Given the description of an element on the screen output the (x, y) to click on. 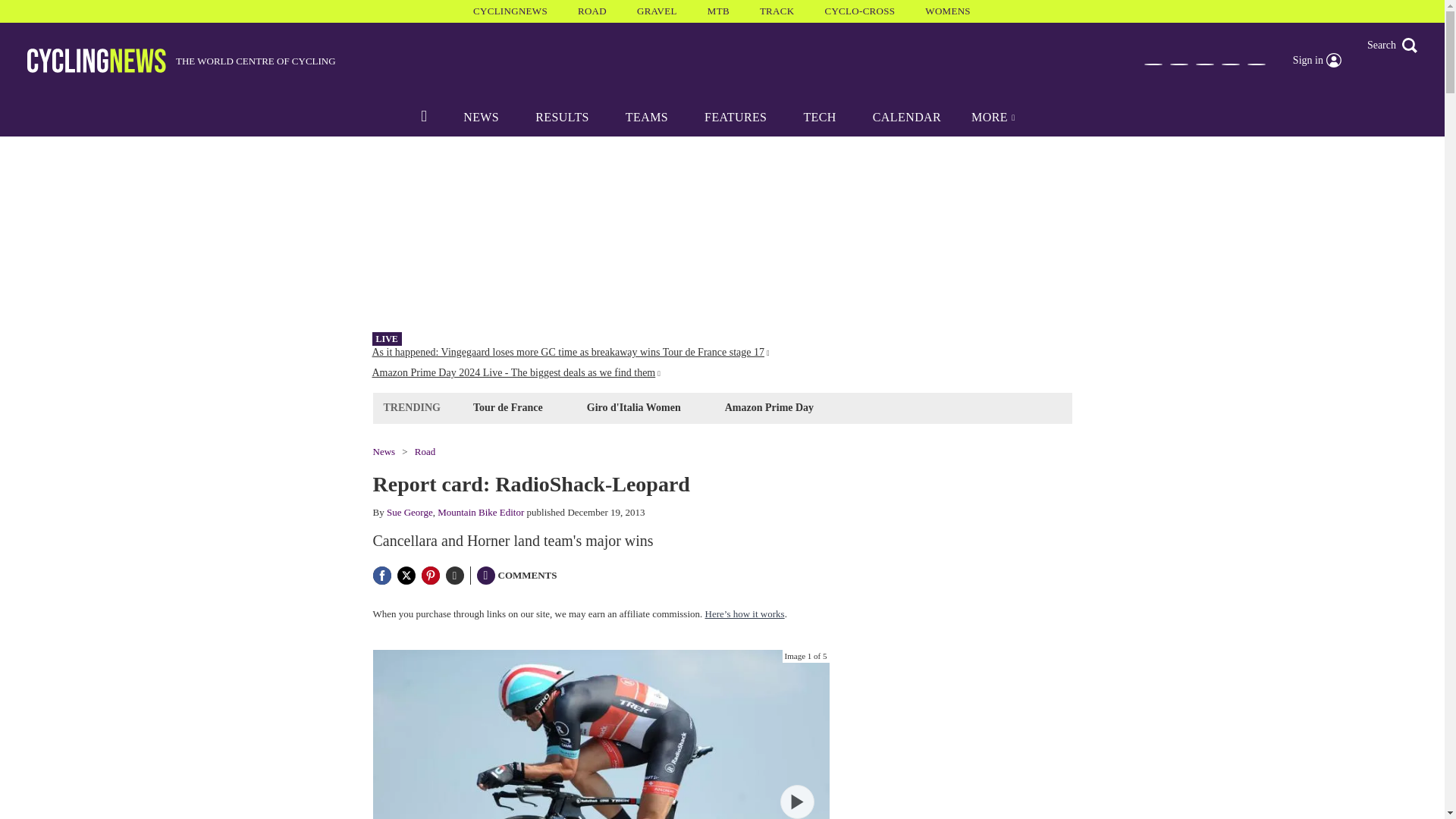
THE WORLD CENTRE OF CYCLING (181, 60)
Amazon Prime Day (768, 407)
CYCLINGNEWS (510, 10)
TECH (818, 117)
FEATURES (734, 117)
MTB (718, 10)
NEWS (480, 117)
Tour de France (507, 407)
CALENDAR (906, 117)
TRACK (777, 10)
ROAD (592, 10)
RESULTS (561, 117)
WOMENS (947, 10)
